Given the description of an element on the screen output the (x, y) to click on. 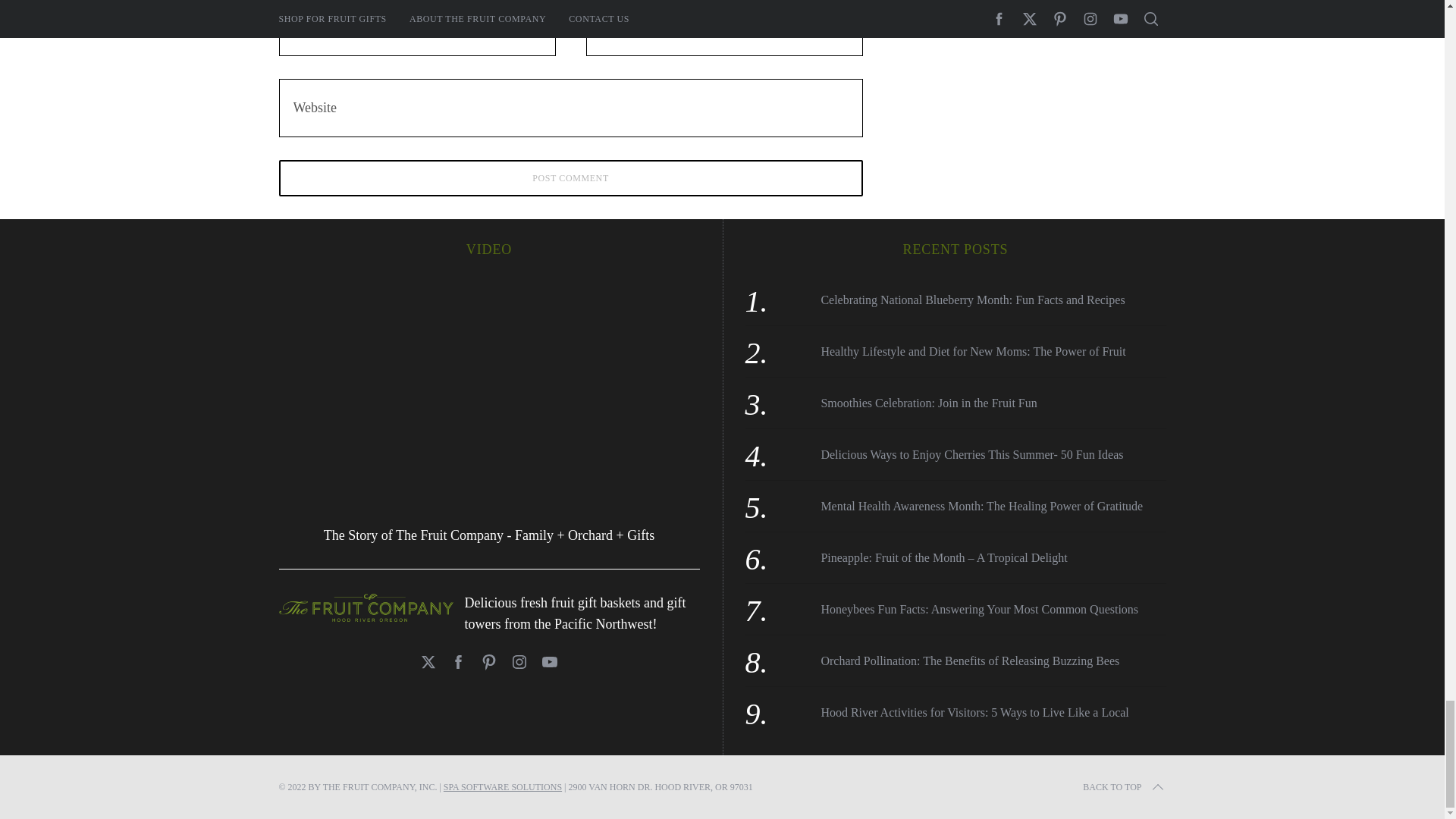
Post Comment (571, 177)
